Given the description of an element on the screen output the (x, y) to click on. 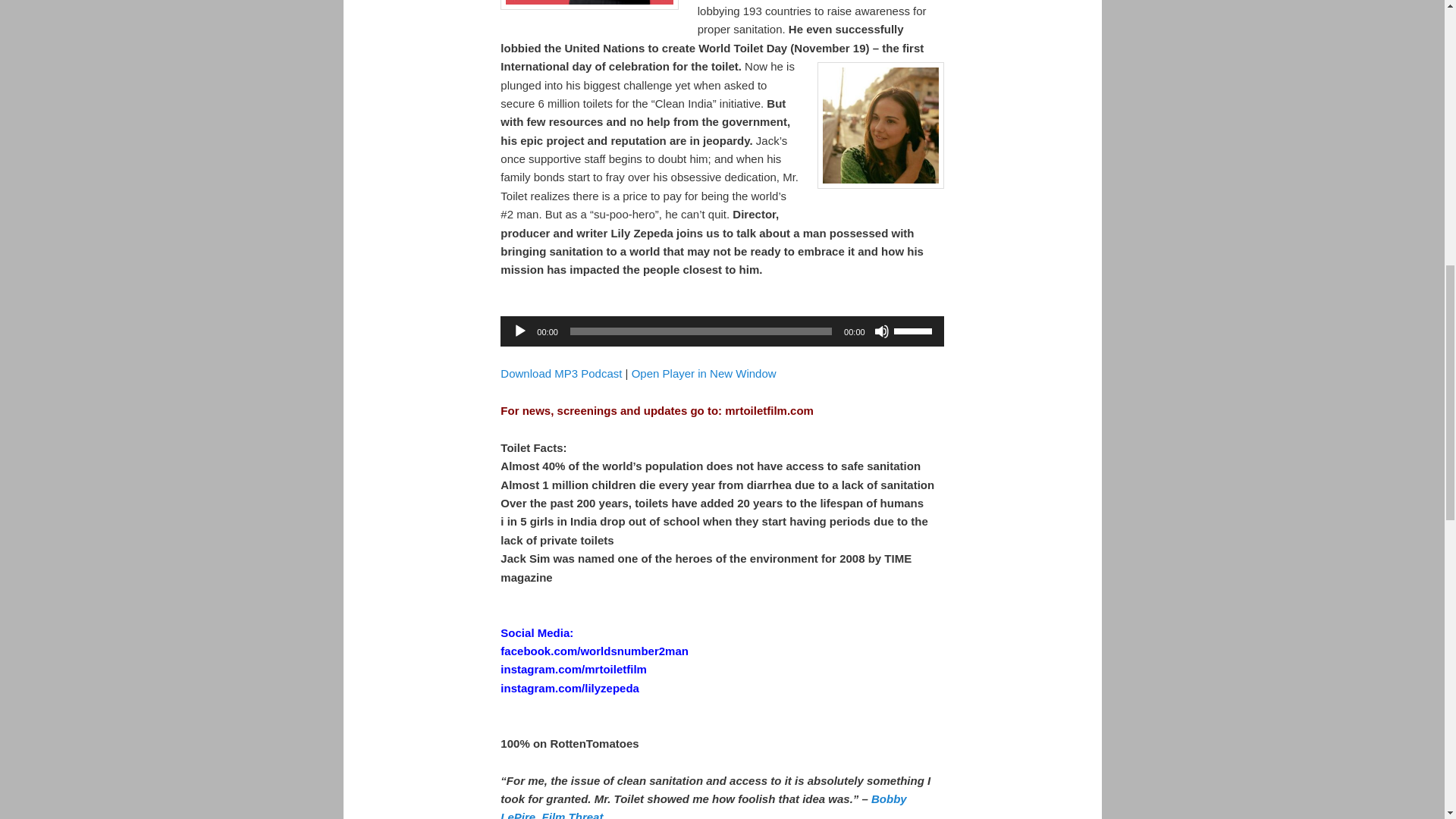
For news, screenings and updates go to: mrtoiletfilm.com (656, 410)
Film Threat (572, 814)
Open Player in New Window (703, 373)
Bobby LePire (702, 805)
Play (519, 331)
Mute (882, 331)
Download MP3 Podcast (560, 373)
